Given the description of an element on the screen output the (x, y) to click on. 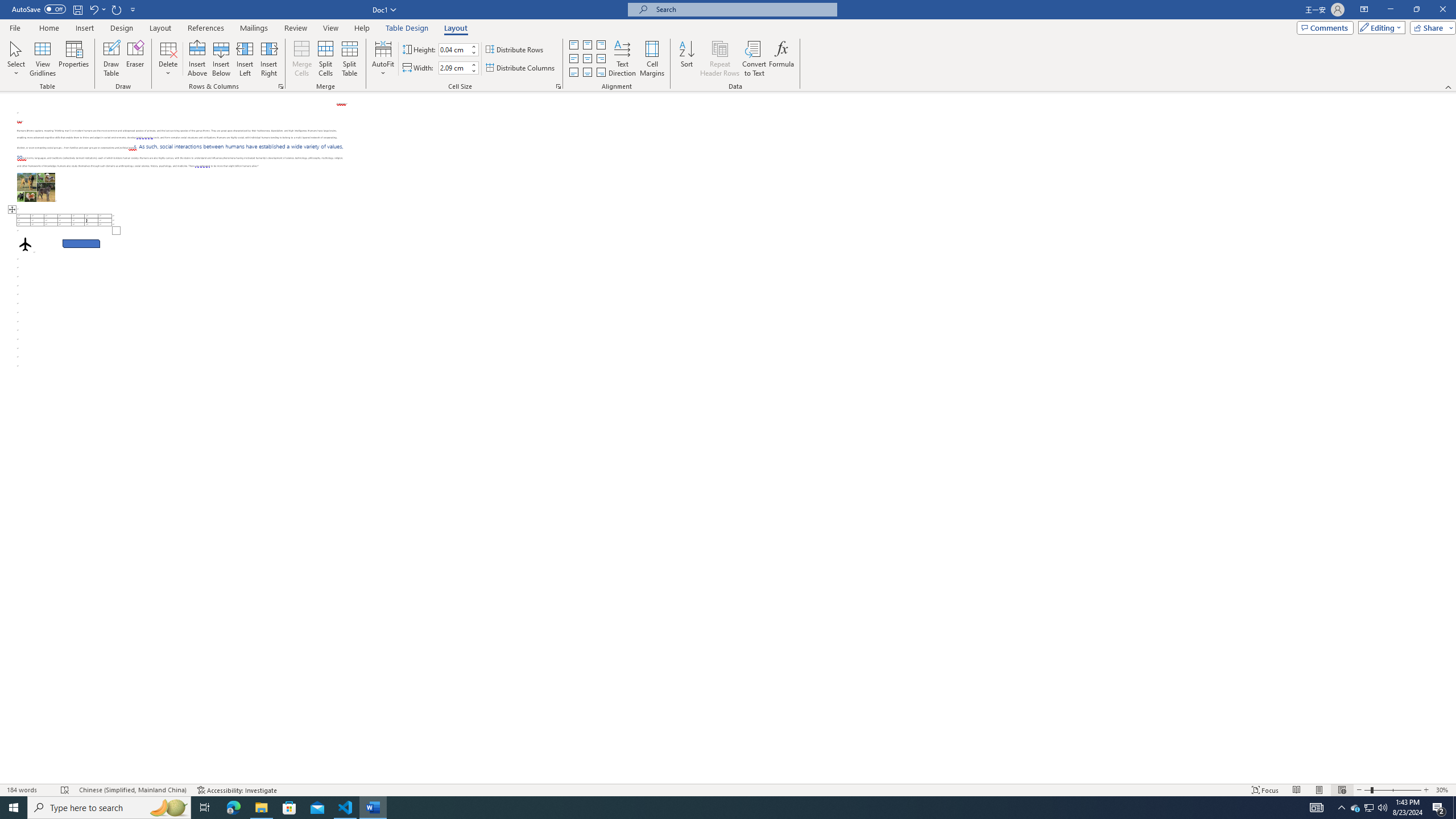
Review (295, 28)
Table Column Width (453, 67)
Insert Left (244, 58)
Text Direction (622, 58)
Delete (167, 58)
Align Center (587, 58)
Share (1430, 27)
Undo Row Height Spinner (92, 9)
Align Center Right (601, 58)
Distribute Columns (521, 67)
Align Top Center (587, 44)
Formula... (780, 58)
Read Mode (1296, 790)
Morphological variation in six dogs (36, 187)
